Given the description of an element on the screen output the (x, y) to click on. 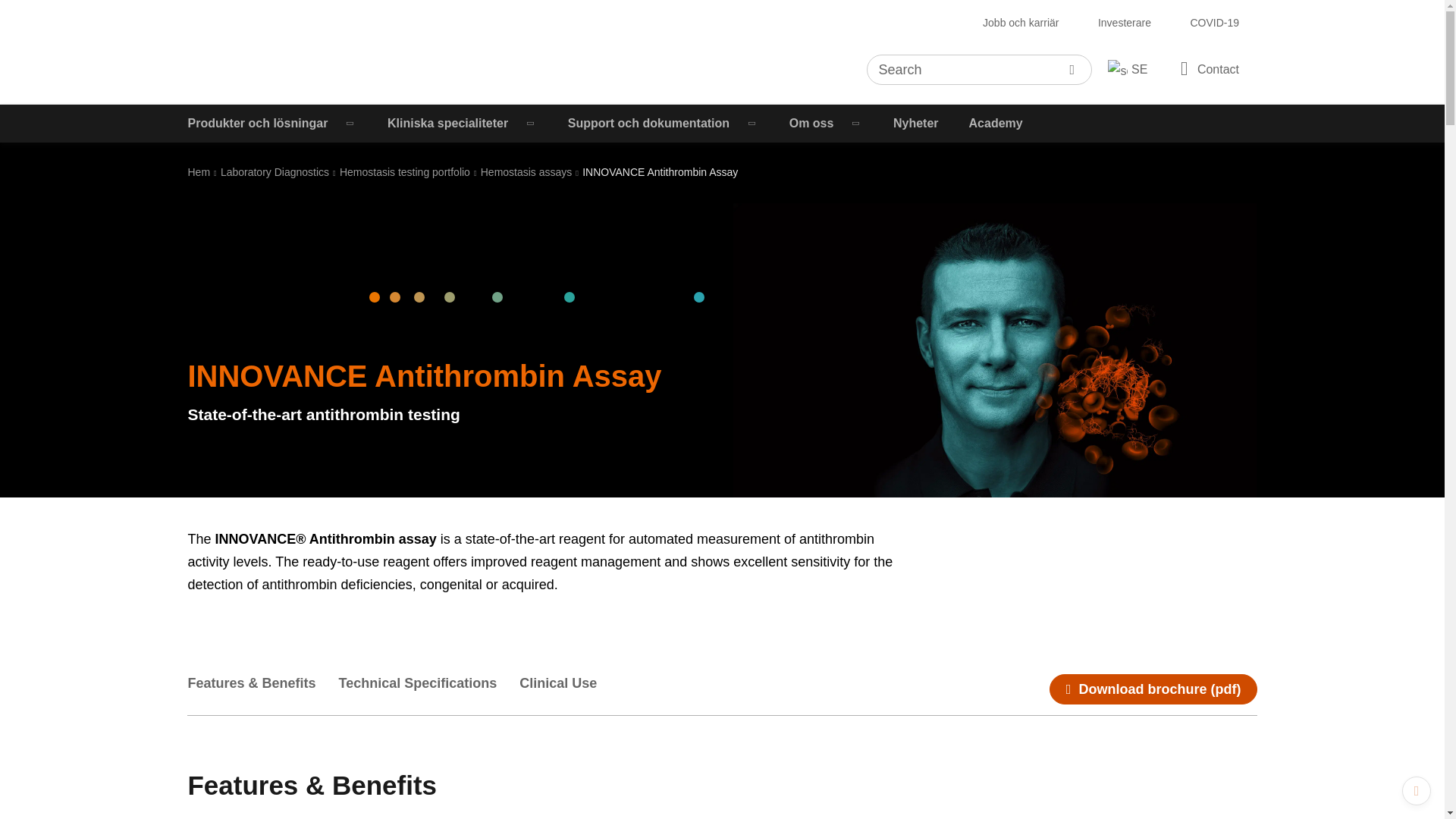
COVID-19 (1214, 22)
Clinical Use (569, 689)
Laboratory Diagnostics (275, 172)
Investerare (1124, 22)
Technical Specifications (429, 689)
Om oss (825, 123)
Nyheter (915, 123)
Hemostasis assays (526, 172)
Support och dokumentation (663, 123)
Hemostasis testing portfolio (404, 172)
